Given the description of an element on the screen output the (x, y) to click on. 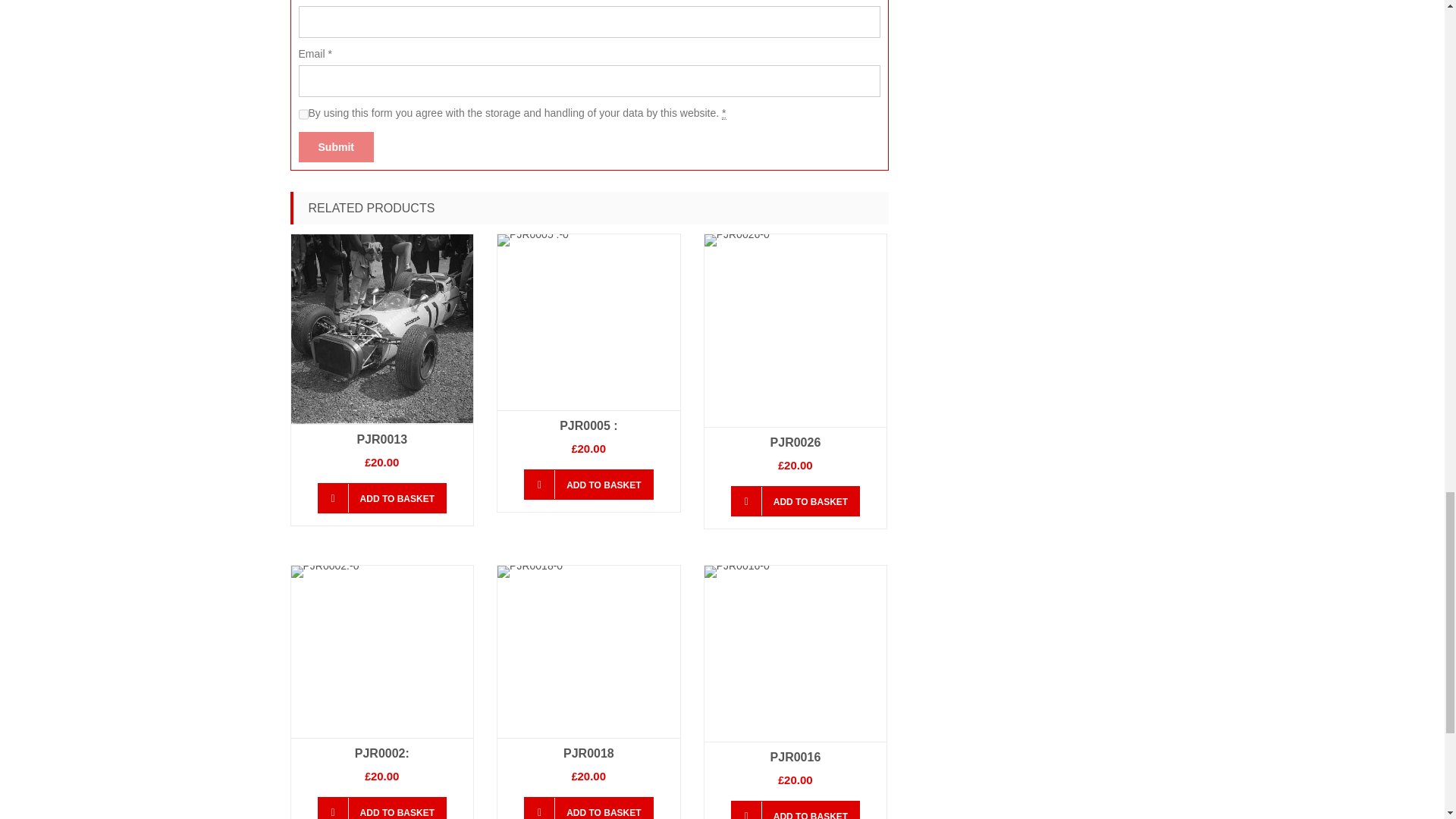
ADD TO BASKET (381, 498)
Submit (336, 146)
Submit (336, 146)
PJR0013 (381, 439)
